Given the description of an element on the screen output the (x, y) to click on. 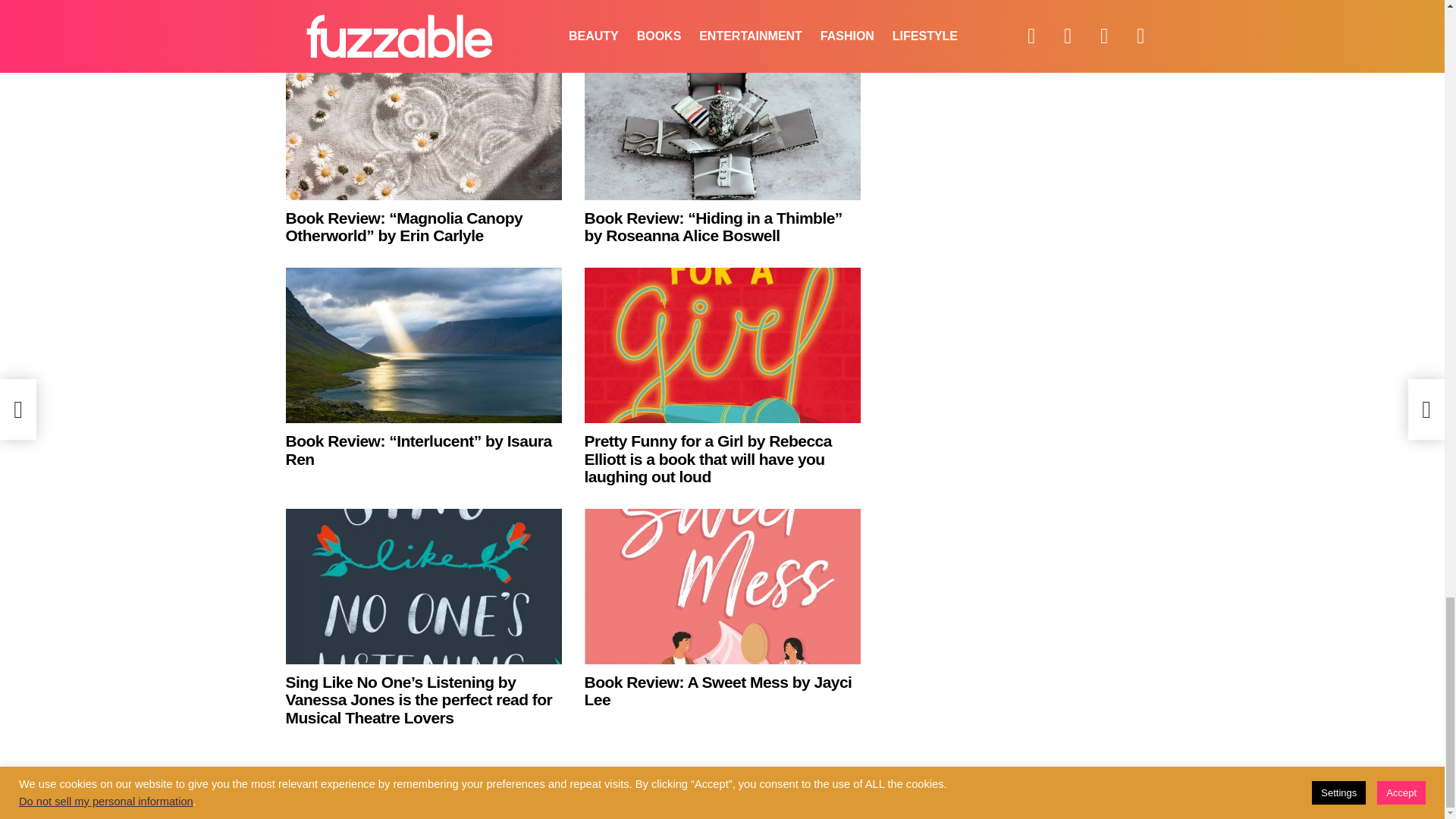
Book Review: A Sweet Mess by Jayci Lee (717, 691)
Book Review: A Sweet Mess by Jayci Lee (721, 586)
